Given the description of an element on the screen output the (x, y) to click on. 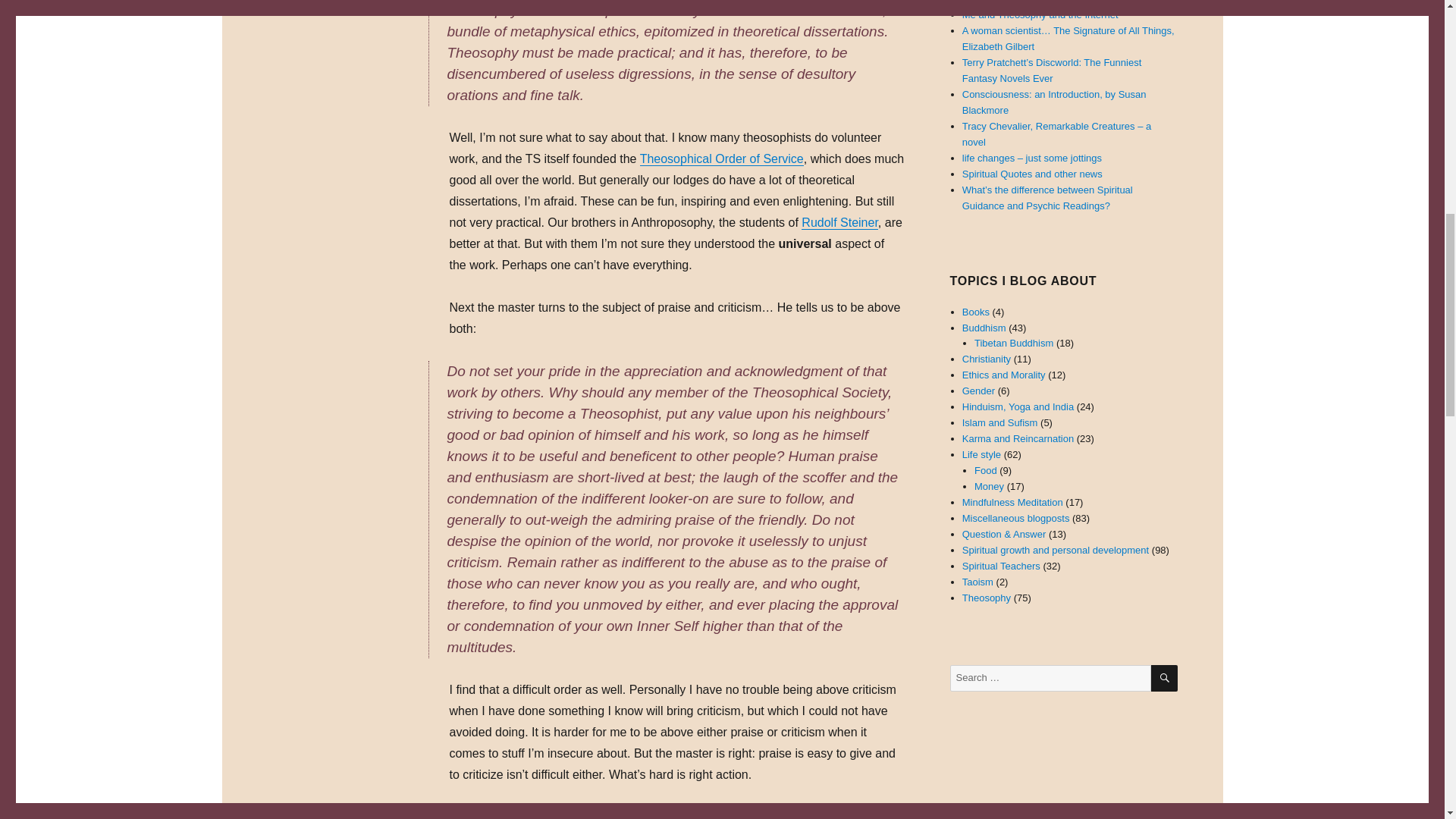
Rudolf Steiner (839, 222)
Theosophical Order of Service (721, 158)
read for yourself (634, 814)
